Given the description of an element on the screen output the (x, y) to click on. 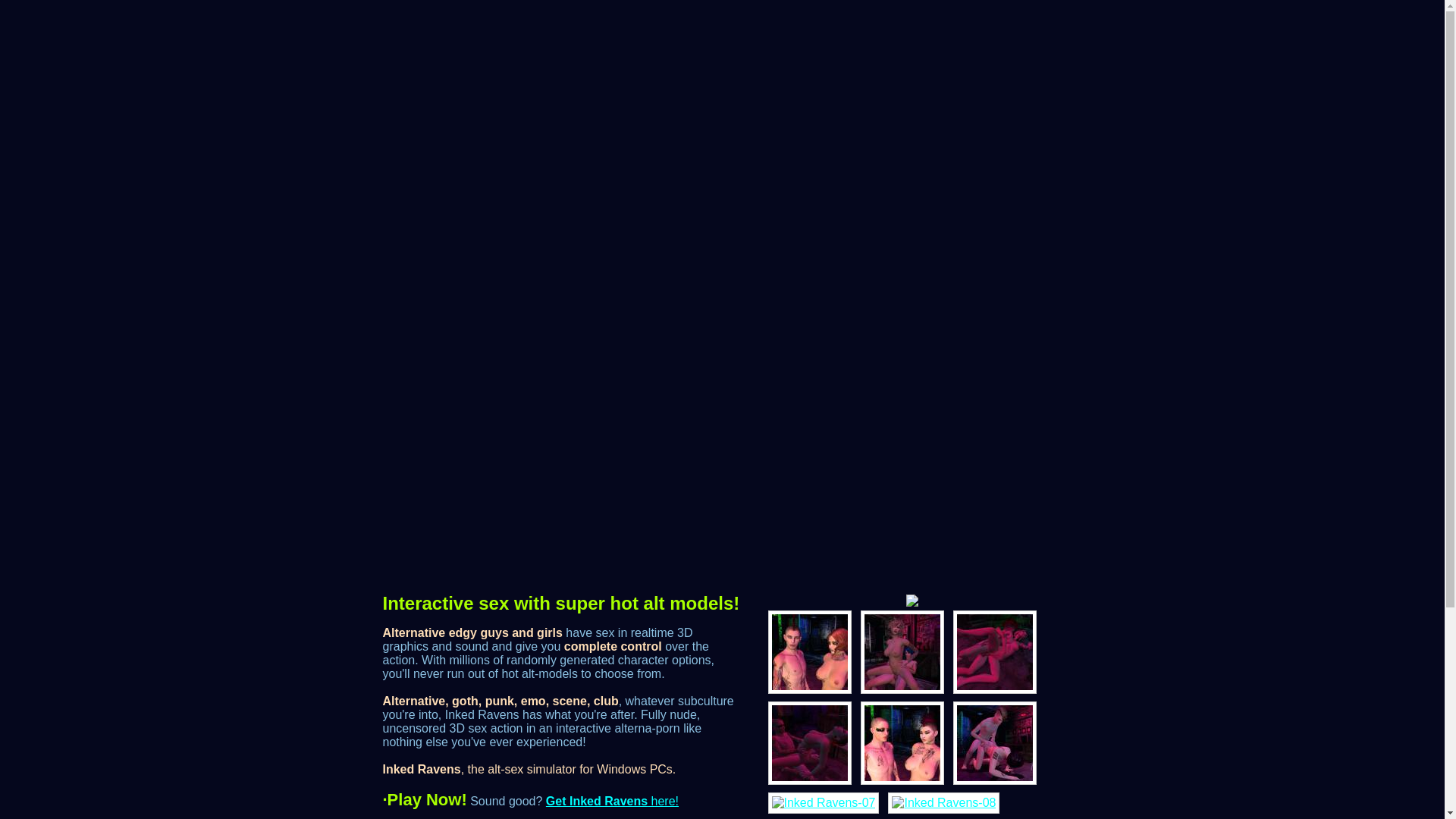
Inked Ravens-06 (993, 742)
Inked Ravens-03 (993, 651)
Inked Ravens-05 (901, 742)
Inked Ravens-07 (823, 803)
Inked Ravens-02 (901, 651)
Inked Ravens-08 (943, 803)
Get Inked Ravens here! (612, 800)
Inked Ravens-04 (808, 742)
Inked Ravens-01 (808, 651)
